Given the description of an element on the screen output the (x, y) to click on. 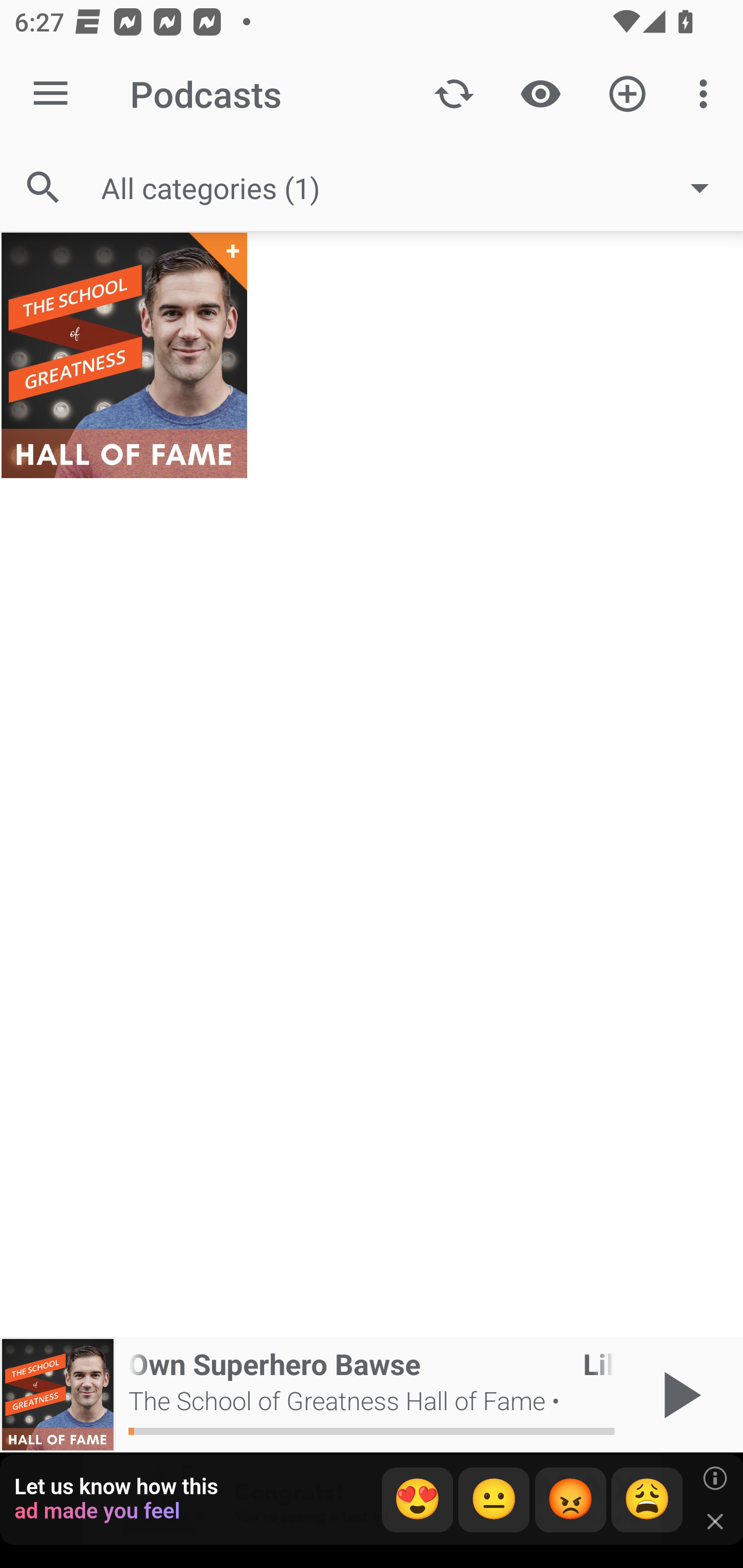
Open navigation sidebar (50, 93)
Update (453, 93)
Show / Hide played content (540, 93)
Add new Podcast (626, 93)
More options (706, 93)
Search (43, 187)
All categories (1) (414, 188)
The School of Greatness Hall of Fame + (124, 355)
Play / Pause (677, 1394)
app-monetization (371, 1500)
😍 (416, 1499)
😐 (493, 1499)
😡 (570, 1499)
😩 (647, 1499)
